Given the description of an element on the screen output the (x, y) to click on. 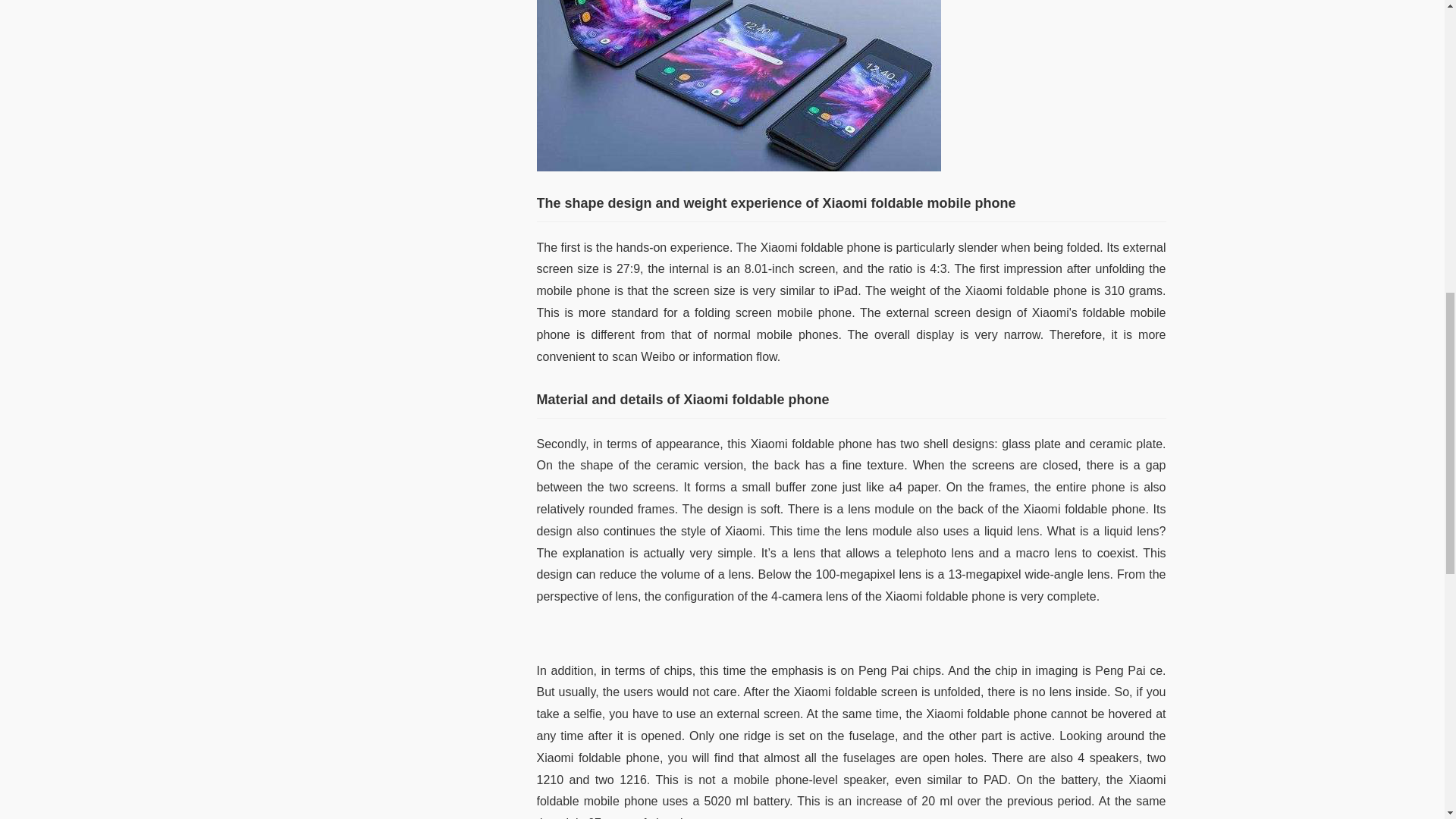
Product Experience of Xiaomi Foldable Mobile Phone (738, 85)
